Given the description of an element on the screen output the (x, y) to click on. 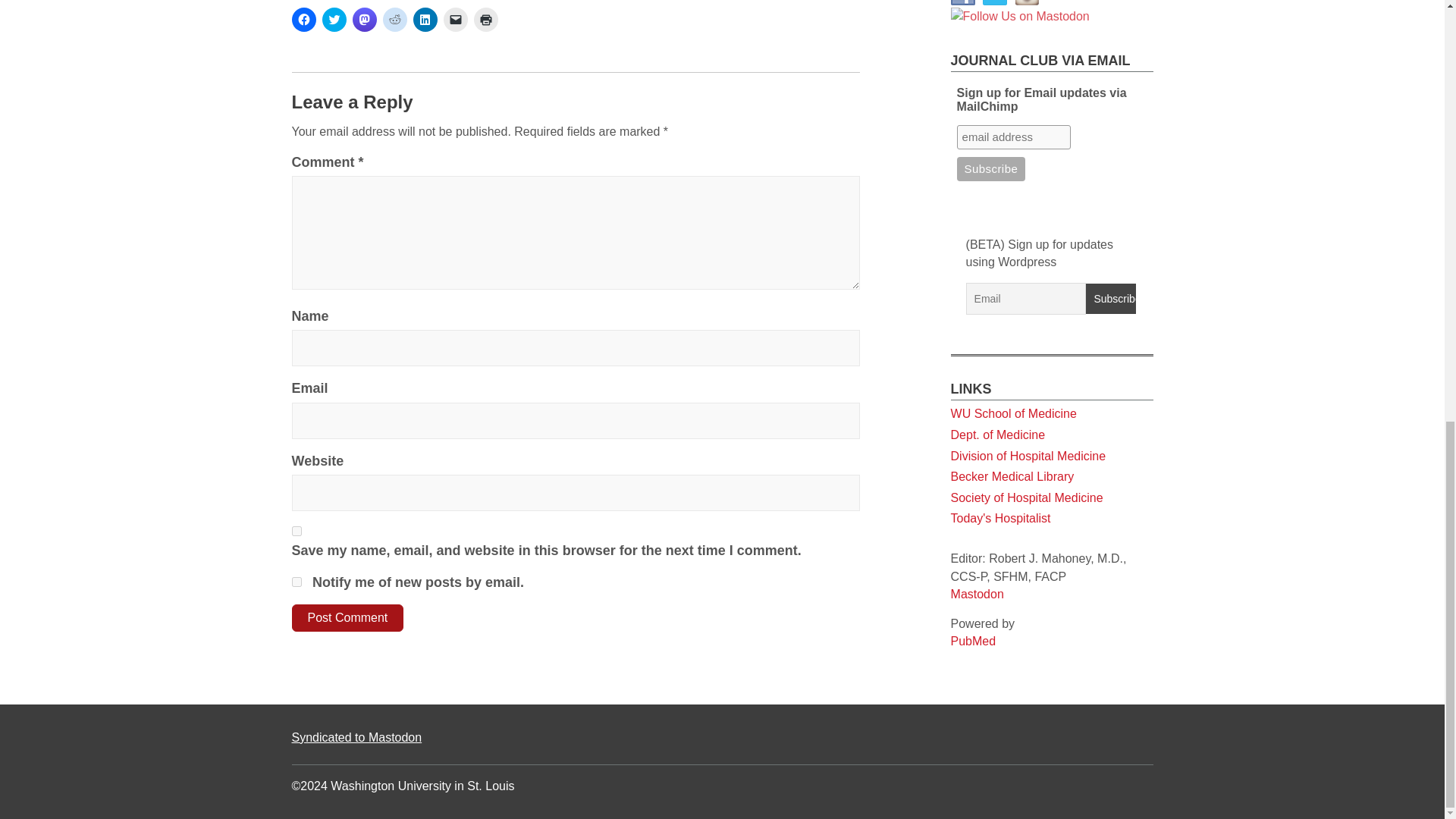
Click to share on Twitter (333, 19)
Click to share on LinkedIn (424, 19)
Click to share on Mastodon (363, 19)
subscribe (296, 582)
yes (296, 531)
Click to share on Facebook (303, 19)
Post Comment (347, 617)
Click to email a link to a friend (454, 19)
Click to print (485, 19)
Post Comment (347, 617)
Society of Hospital Medicine (1026, 72)
Division of Hospital Medicine (1028, 30)
Click to share on Reddit (393, 19)
Becker Medical Library (1012, 51)
Dept. of Medicine (997, 9)
